Given the description of an element on the screen output the (x, y) to click on. 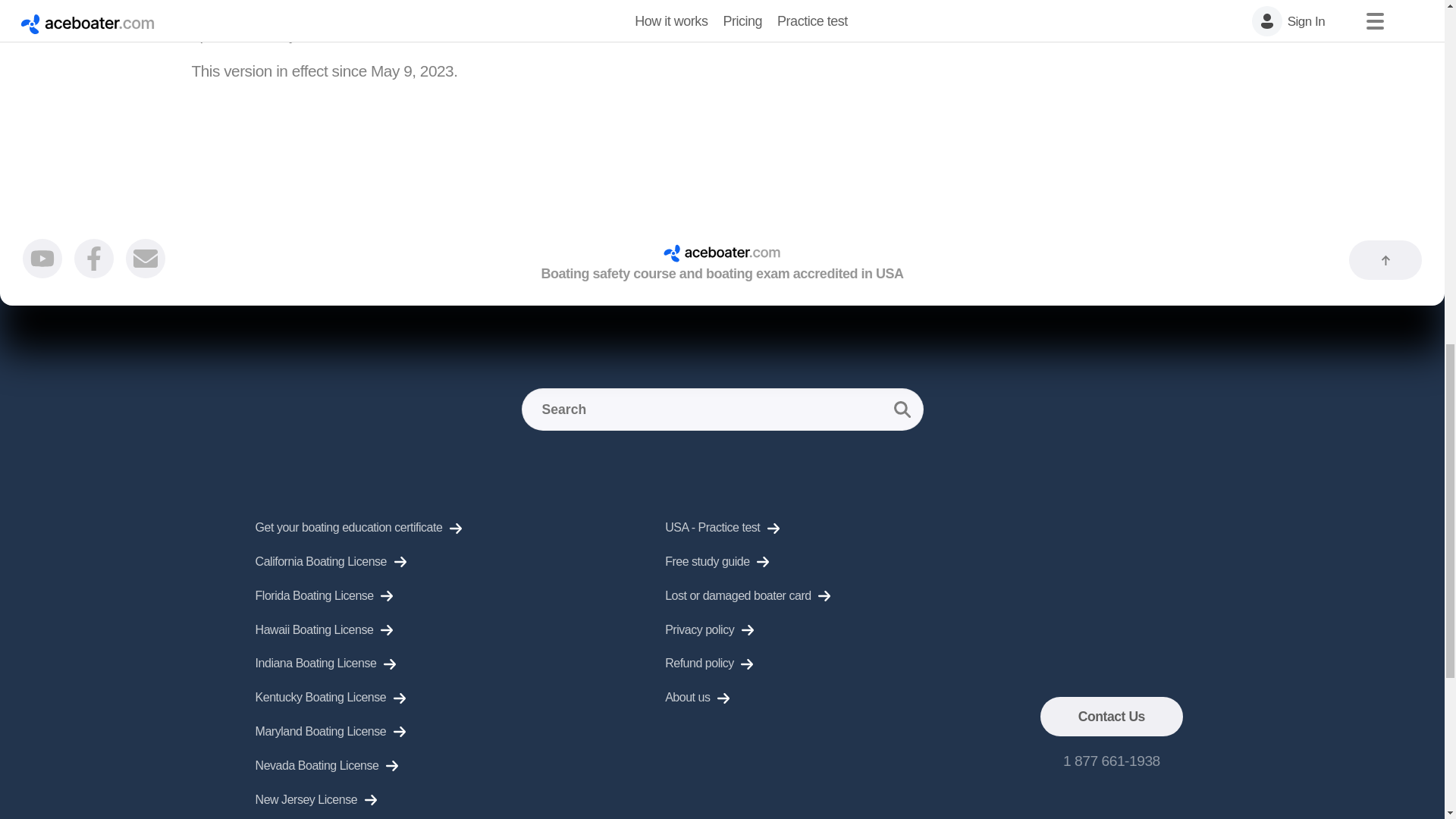
Top (1385, 260)
